Given the description of an element on the screen output the (x, y) to click on. 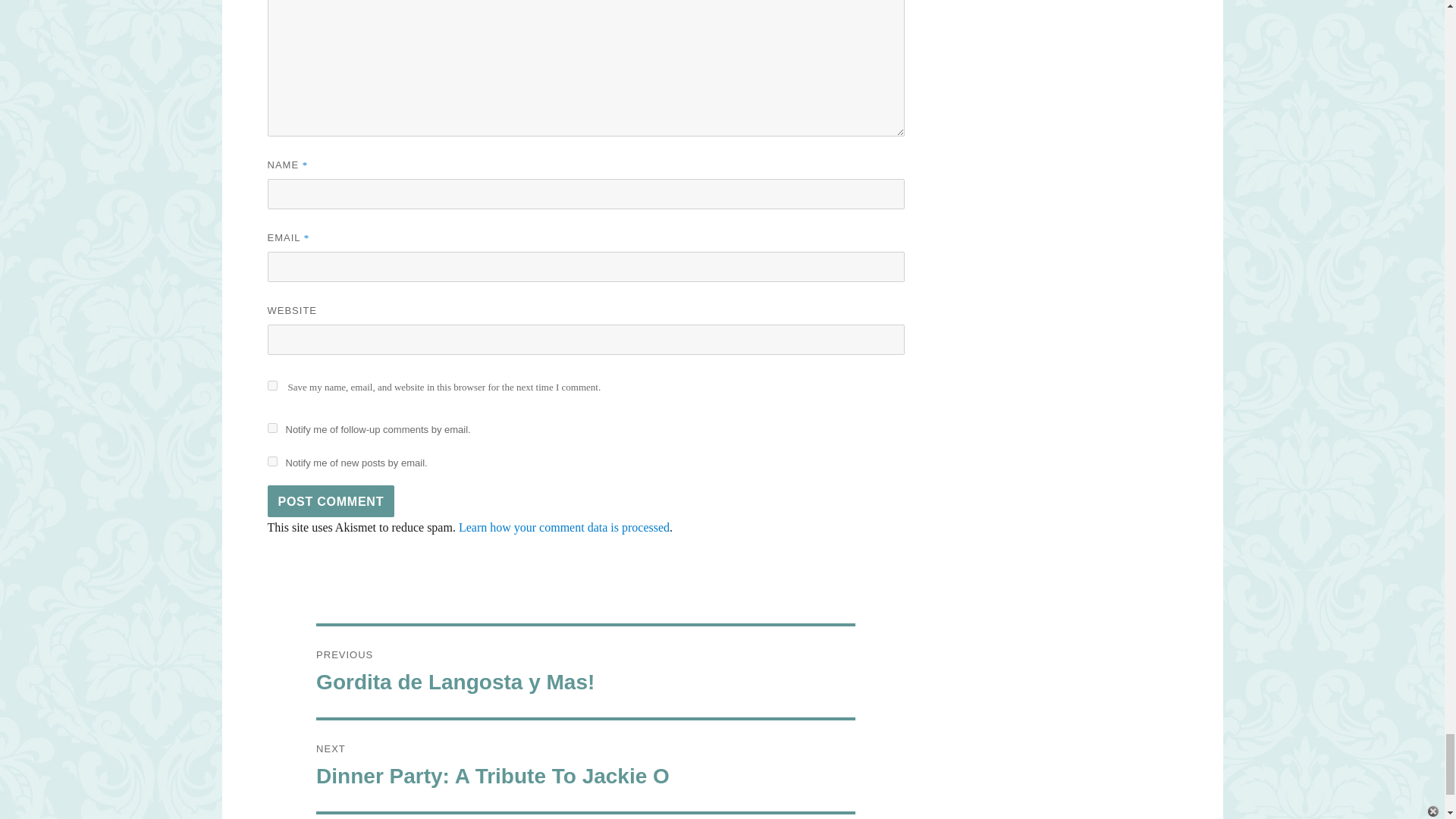
yes (271, 385)
subscribe (271, 461)
Post Comment (330, 500)
subscribe (271, 428)
